Given the description of an element on the screen output the (x, y) to click on. 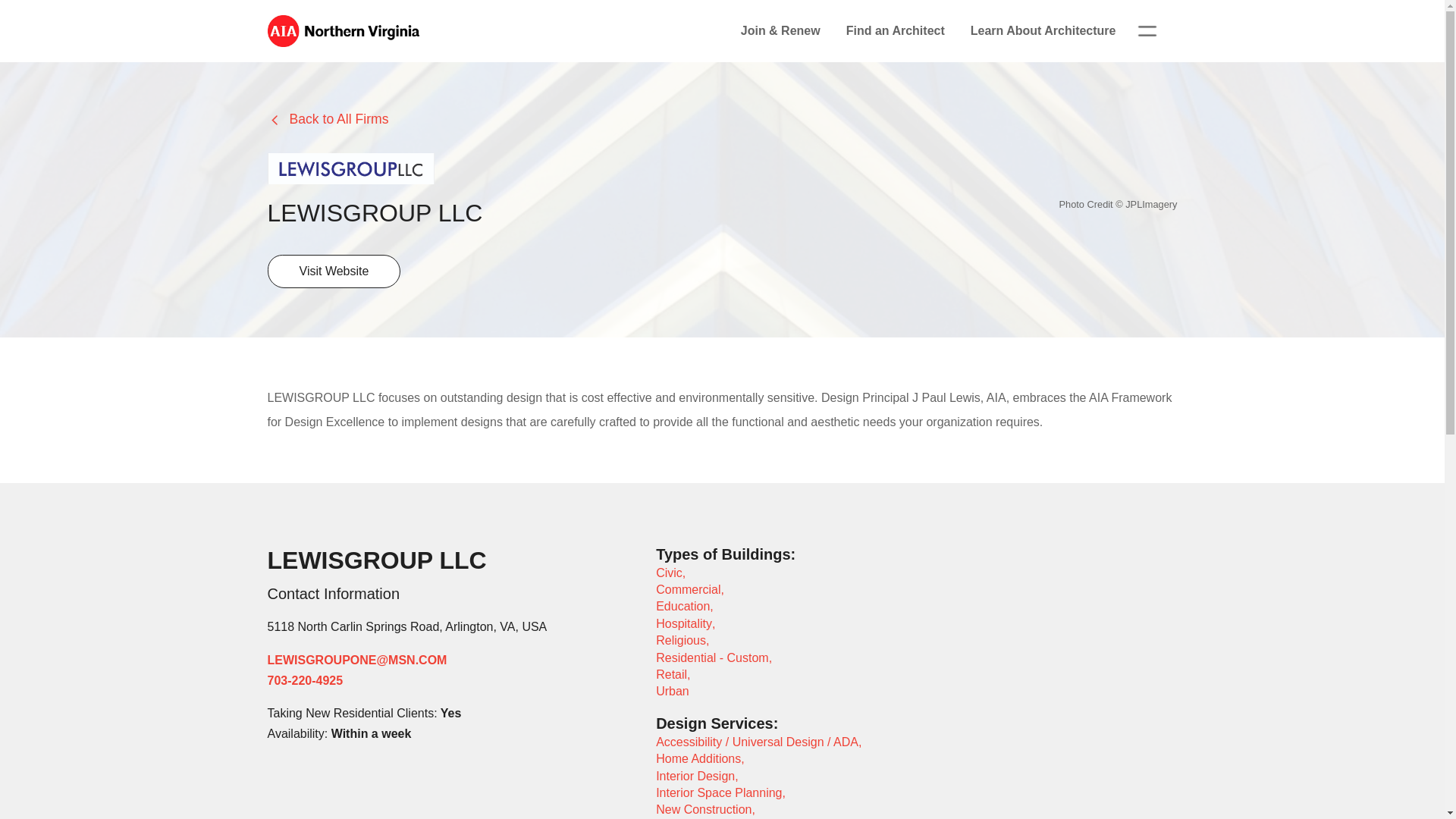
Back to All Firms (327, 119)
Home Additions (698, 758)
Retail (671, 674)
Education (683, 605)
Find an Architect (895, 30)
Residential - Custom (712, 657)
Religious (681, 640)
Commercial (688, 589)
Civic (669, 572)
703-220-4925 (304, 680)
Interior Design (695, 775)
Interior Space Planning (718, 792)
Hospitality (683, 623)
Urban (672, 690)
Learn About Architecture (1043, 30)
